Given the description of an element on the screen output the (x, y) to click on. 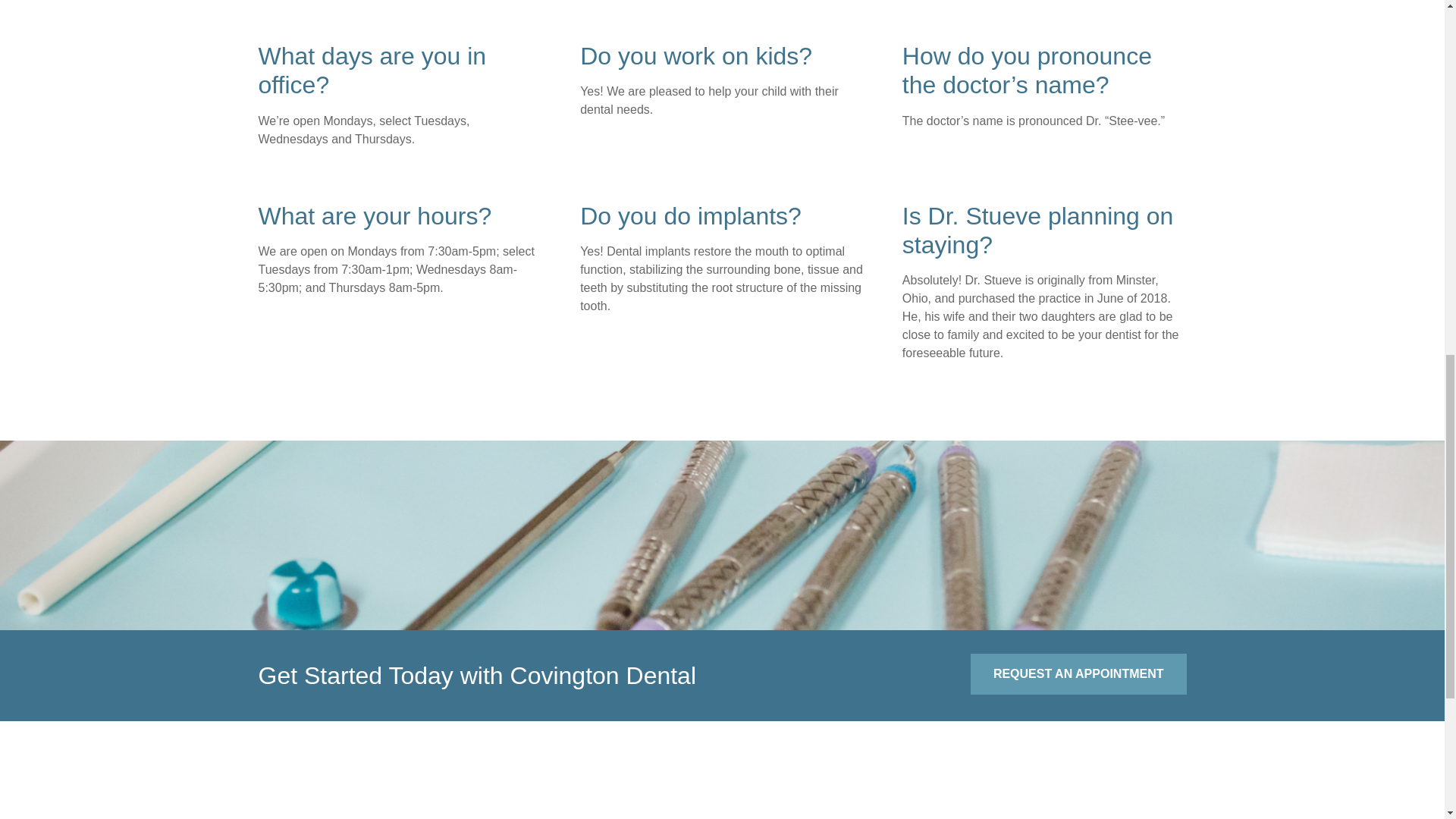
REQUEST AN APPOINTMENT (1078, 673)
